Given the description of an element on the screen output the (x, y) to click on. 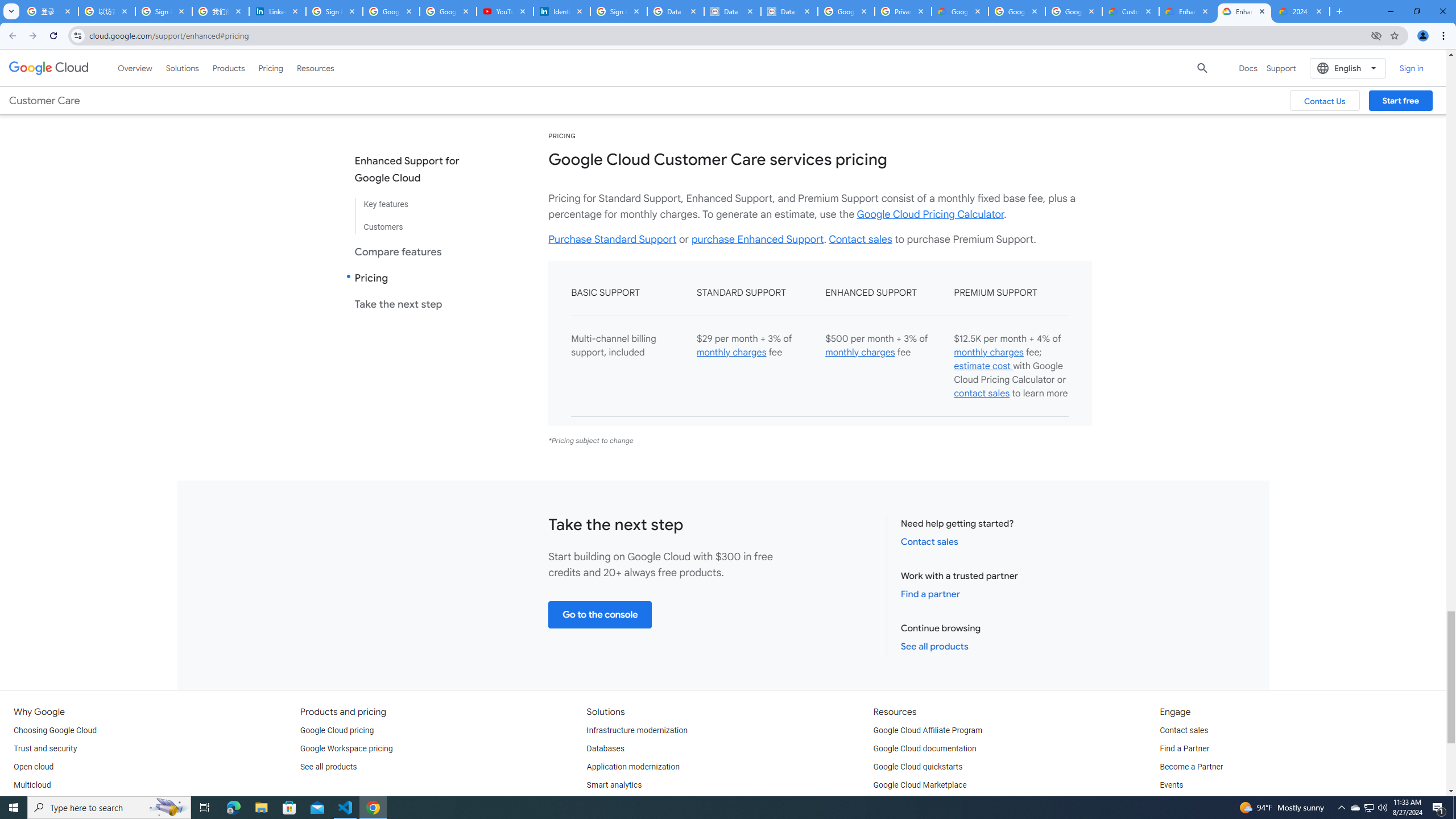
contact sales (981, 393)
